Given the description of an element on the screen output the (x, y) to click on. 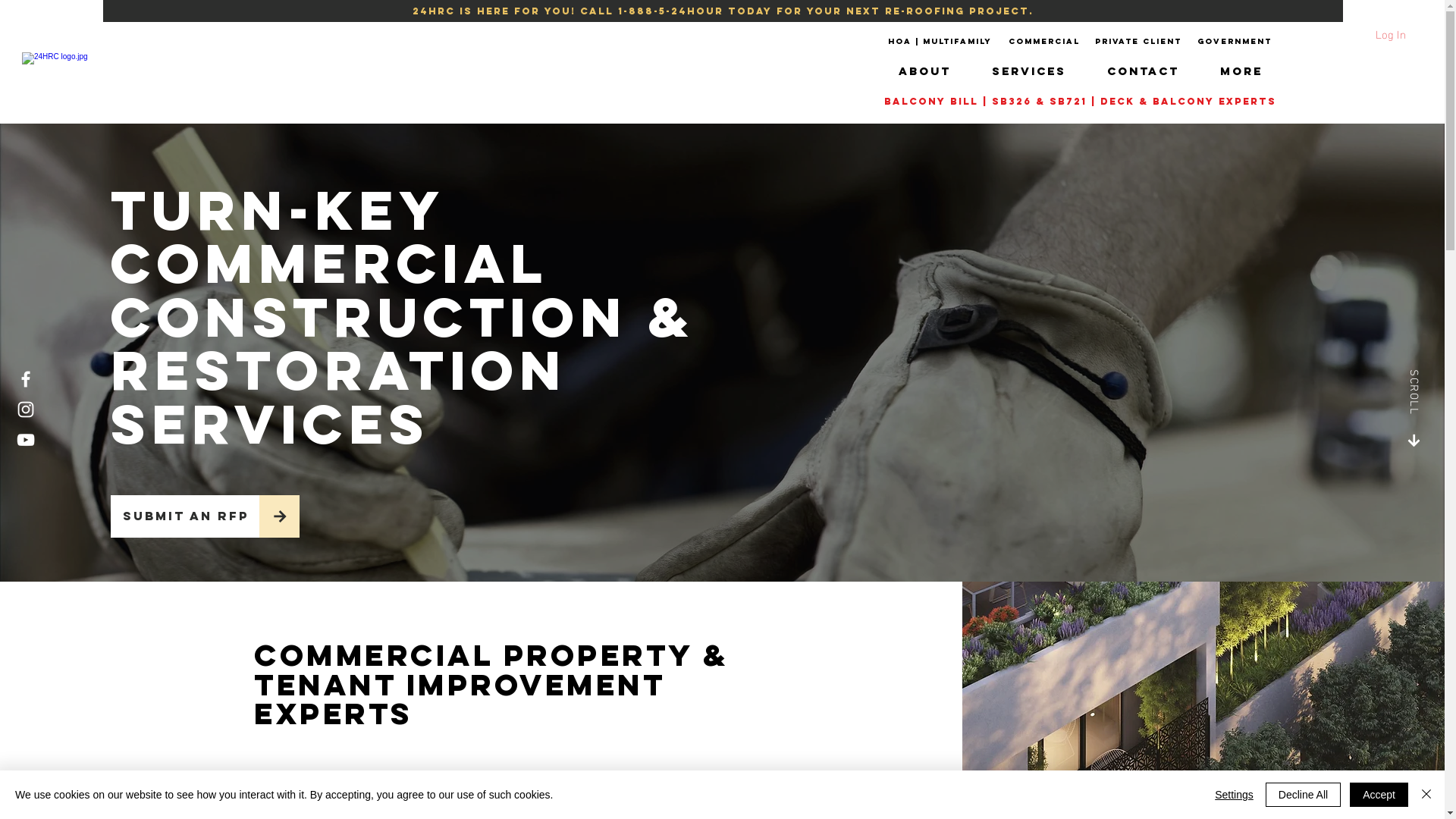
CONTACT Element type: text (1142, 71)
Log In Element type: text (1376, 33)
Balcony Bill | SB326 & SB721 | DECK & BALCONY EXPERTS Element type: text (1079, 101)
Commercial Element type: text (1044, 42)
SUBMIT AN RFP Element type: text (184, 516)
SERVICES Element type: text (1028, 71)
Accept Element type: text (1378, 794)
Decline All Element type: text (1302, 794)
ABOUT Element type: text (924, 71)
Government Element type: text (1234, 42)
HOA | Multifamily Element type: text (939, 42)
